Given the description of an element on the screen output the (x, y) to click on. 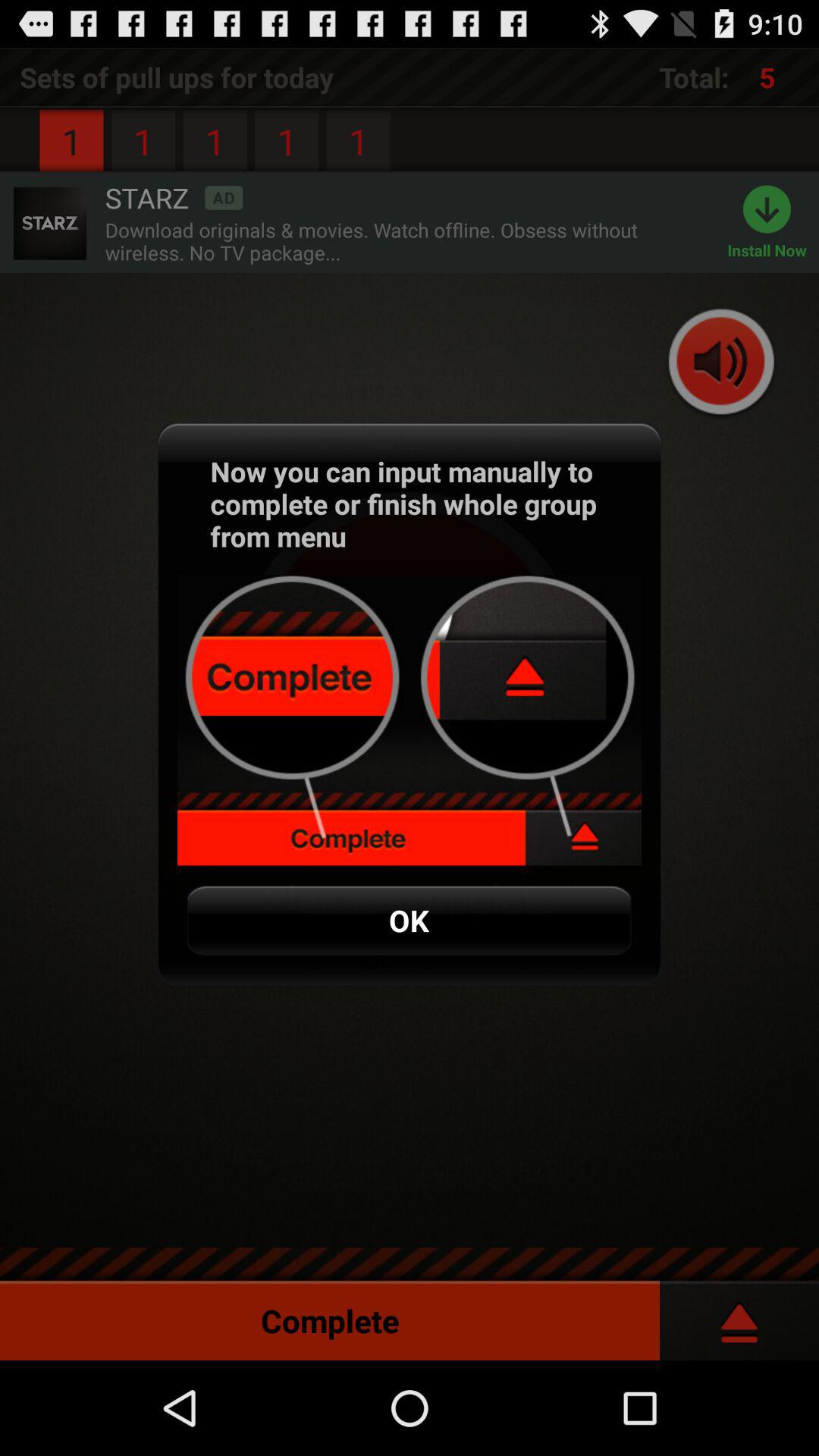
open the ok item (409, 920)
